Given the description of an element on the screen output the (x, y) to click on. 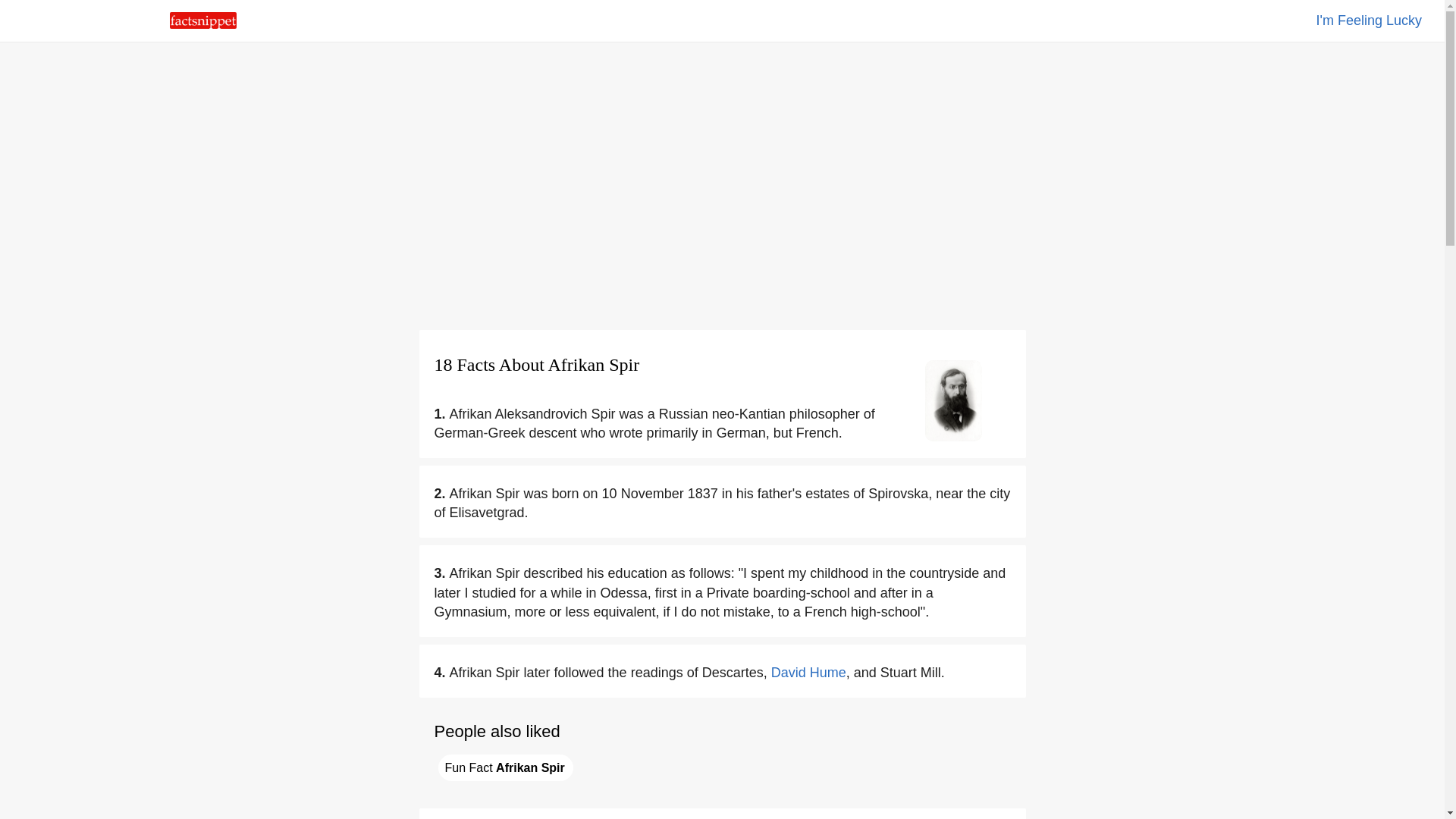
FactSnippet (202, 24)
I'm Feeling Lucky (1369, 20)
Mavis Staples (1369, 20)
Fun Fact Afrikan Spir (505, 767)
David Hume (808, 672)
Fun Fact Afrikan Spir (505, 767)
David Hume (808, 672)
